Given the description of an element on the screen output the (x, y) to click on. 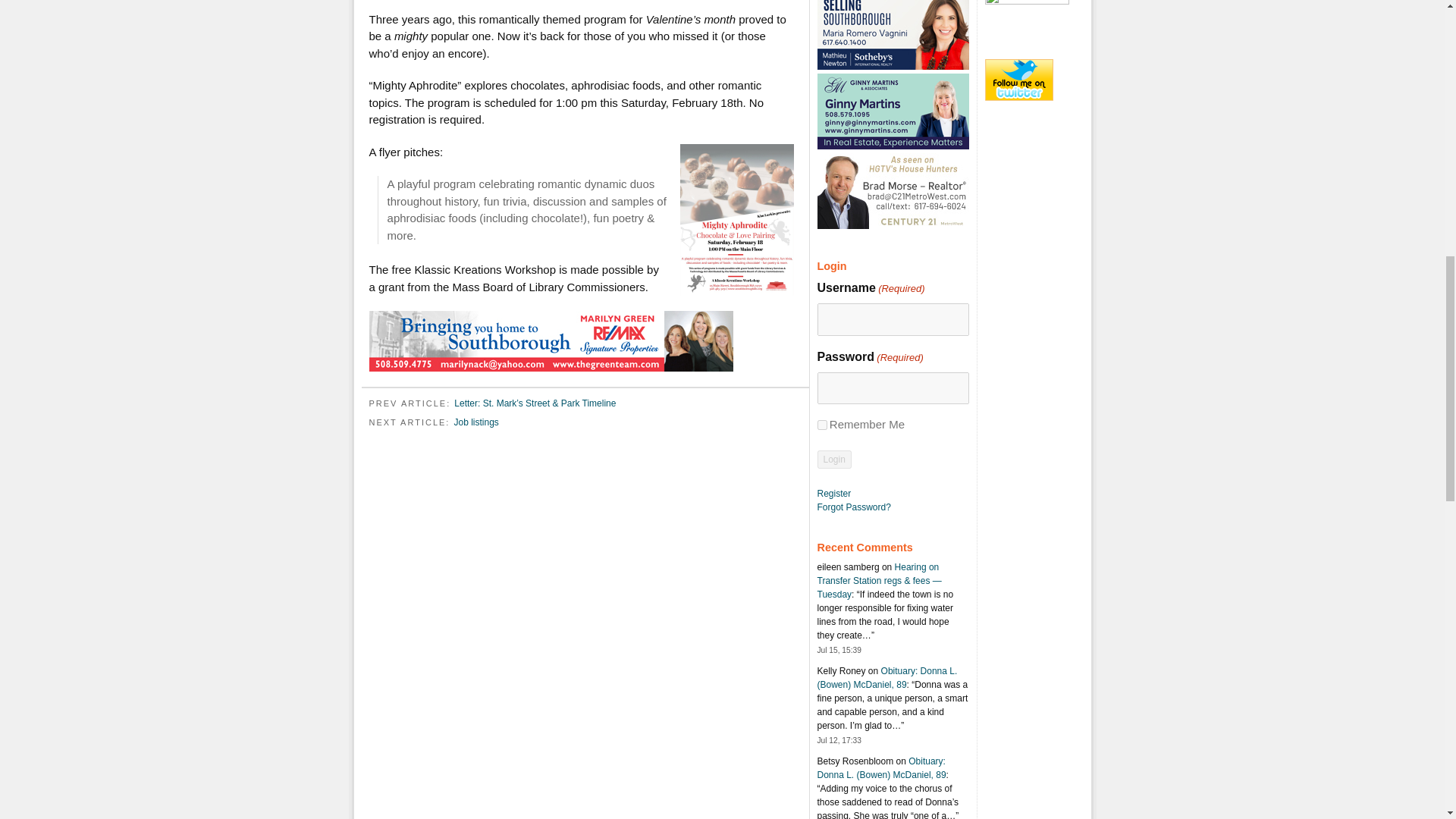
1 (821, 424)
Login (833, 459)
